Given the description of an element on the screen output the (x, y) to click on. 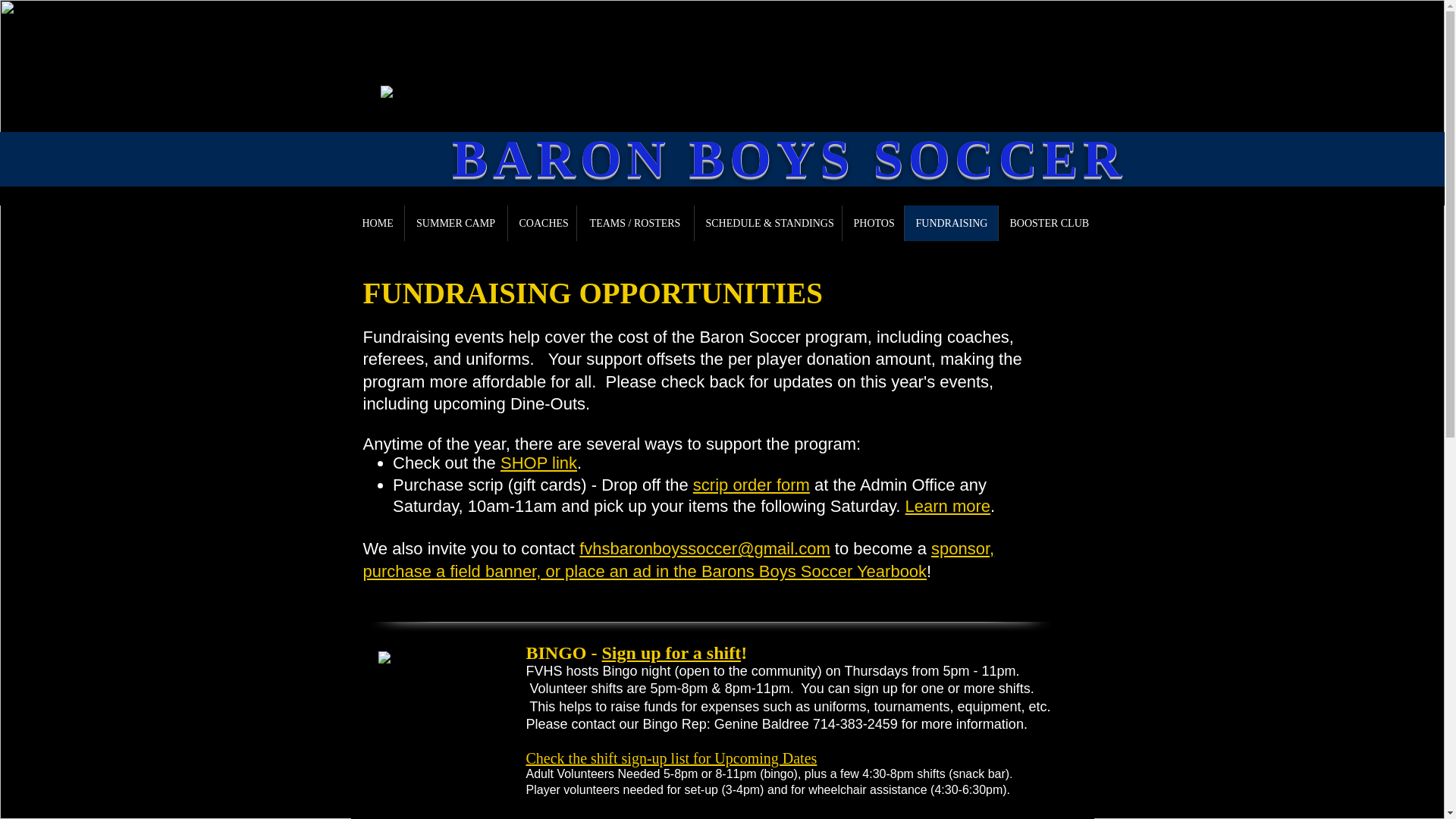
HOME (376, 222)
SUMMER CAMP (454, 222)
BARON BOYS SOCCER (788, 158)
COACHES (540, 222)
Sign up for a shift (671, 652)
FUNDRAISING (950, 222)
SHOP link (538, 462)
PHOTOS (872, 222)
BOOSTER CLUB (1045, 222)
scrip order form (751, 484)
Learn more.  (952, 505)
